Given the description of an element on the screen output the (x, y) to click on. 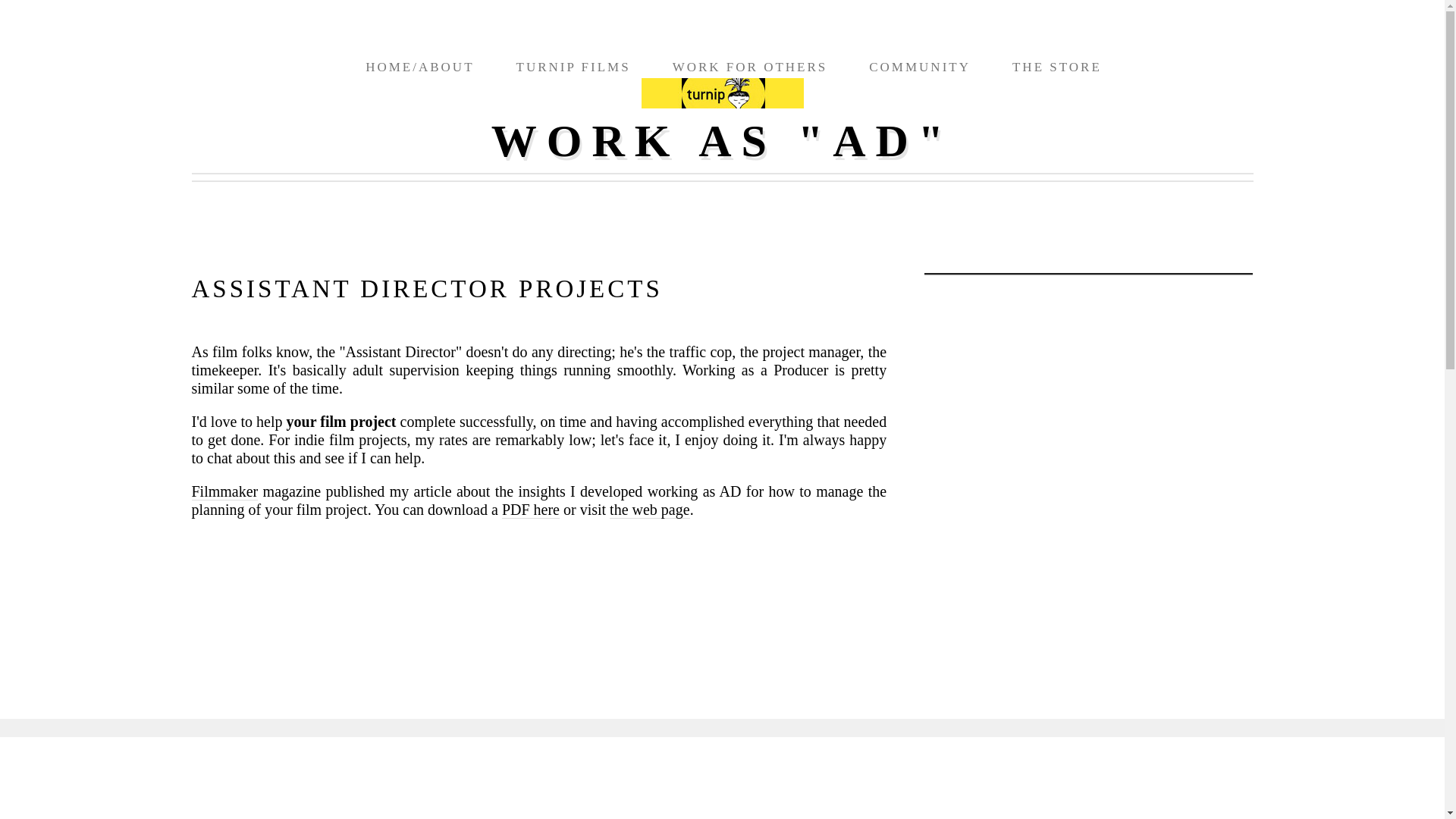
COMMUNITY (920, 66)
WORK FOR OTHERS (750, 66)
TURNIP FILMS (573, 66)
